Given the description of an element on the screen output the (x, y) to click on. 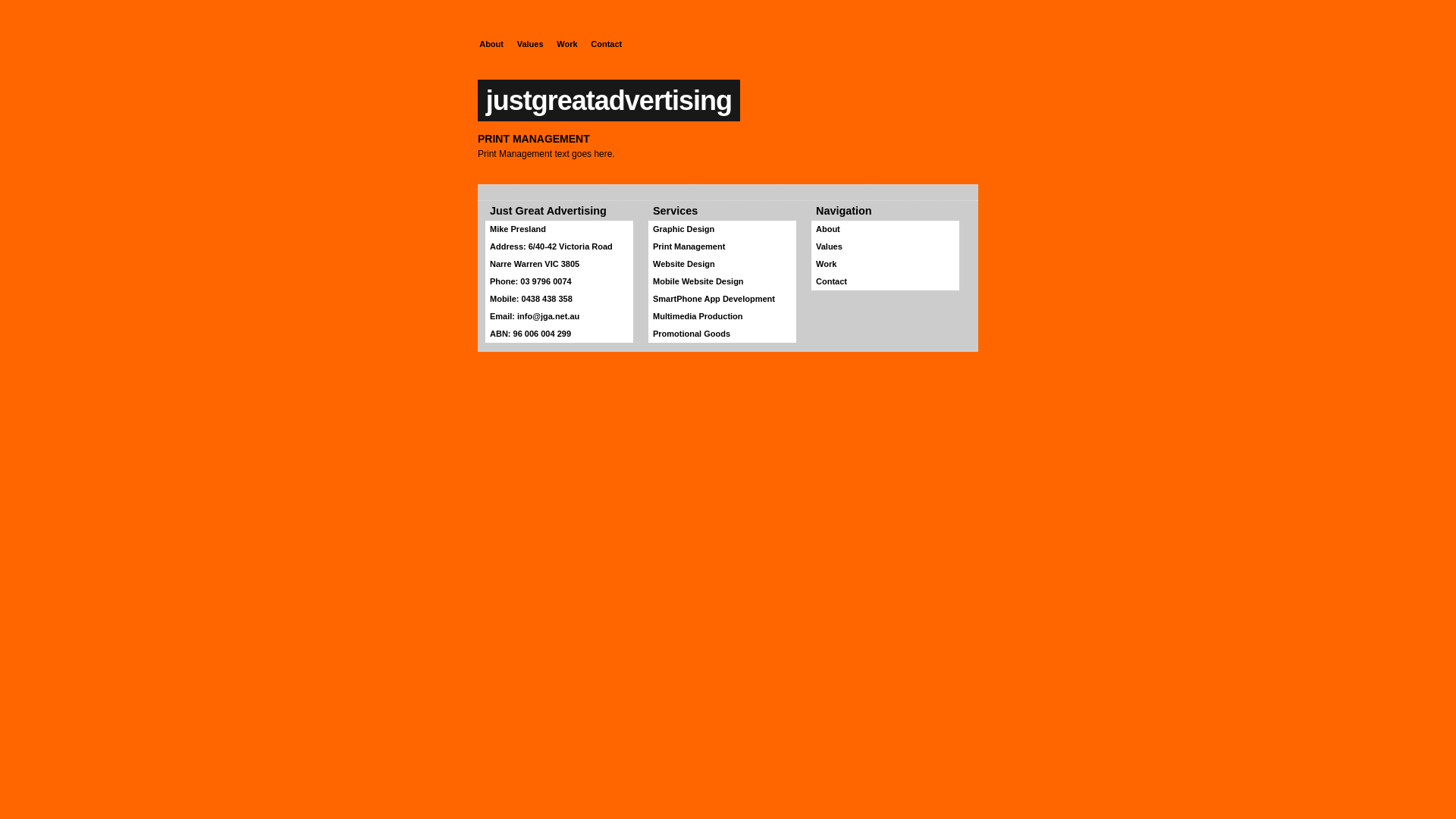
Contact Element type: text (606, 43)
Contact Element type: text (885, 281)
Print Management Element type: text (722, 246)
Graphic Design Element type: text (722, 229)
Work Element type: text (567, 43)
Values Element type: text (885, 246)
About Element type: text (885, 229)
ABN: 96 006 004 299 Element type: text (559, 333)
Promotional Goods Element type: text (722, 333)
Website Design Element type: text (722, 264)
Address: 6/40-42 Victoria Road Element type: text (559, 246)
Phone: 03 9796 0074 Element type: text (559, 281)
justgreatadvertising Element type: text (608, 100)
Mike Presland Element type: text (559, 229)
Email: info@jga.net.au Element type: text (559, 316)
Mobile Website Design Element type: text (722, 281)
SmartPhone App Development Element type: text (722, 298)
About Element type: text (491, 43)
Work Element type: text (885, 264)
Mobile: 0438 438 358 Element type: text (559, 298)
Multimedia Production Element type: text (722, 316)
Narre Warren VIC 3805 Element type: text (559, 264)
Values Element type: text (529, 43)
